Given the description of an element on the screen output the (x, y) to click on. 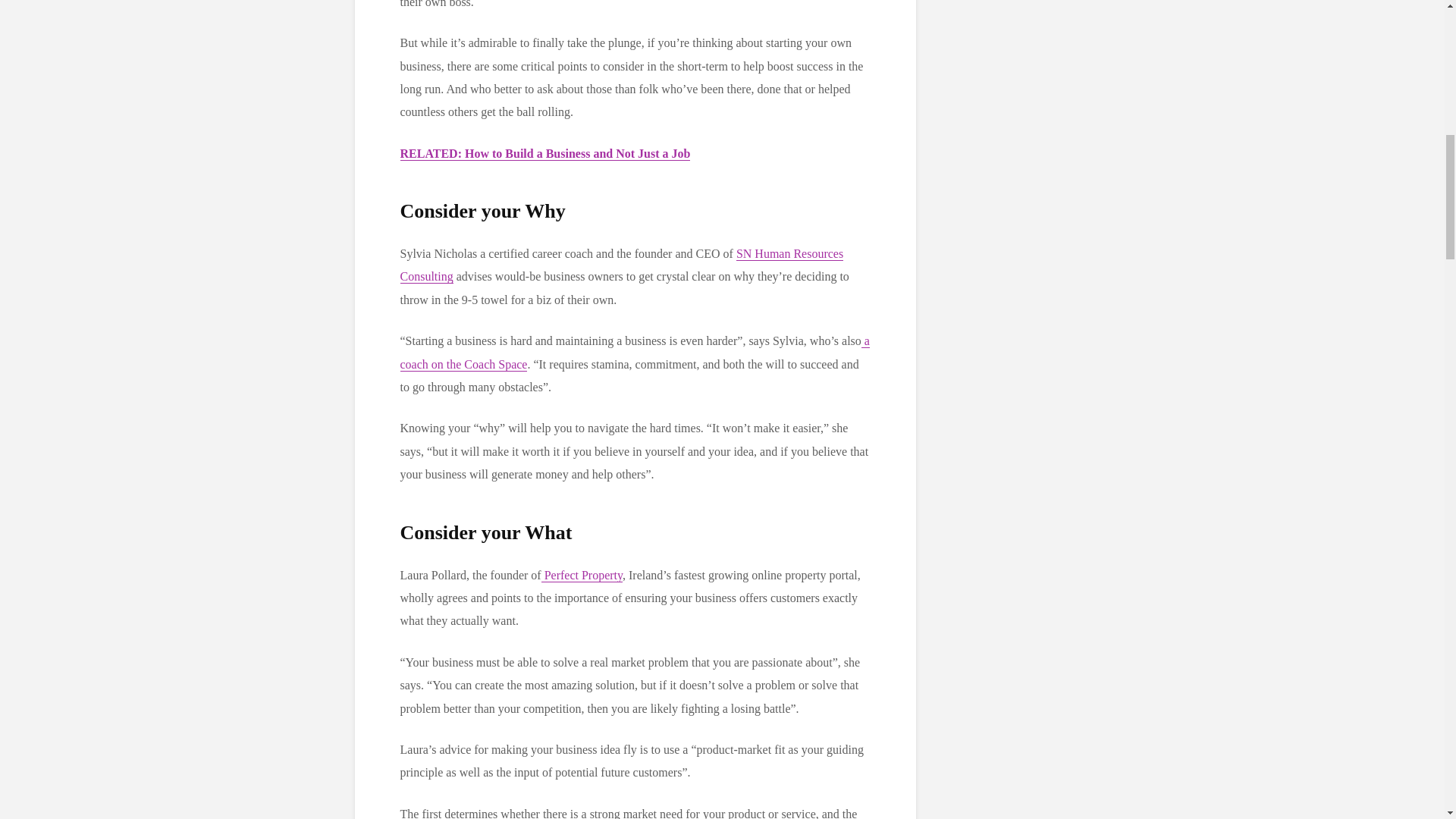
SN Human Resources Consulting (622, 265)
a coach on the Coach Space (634, 352)
RELATED: How to Build a Business and Not Just a Job (545, 153)
Perfect Property (582, 575)
